Given the description of an element on the screen output the (x, y) to click on. 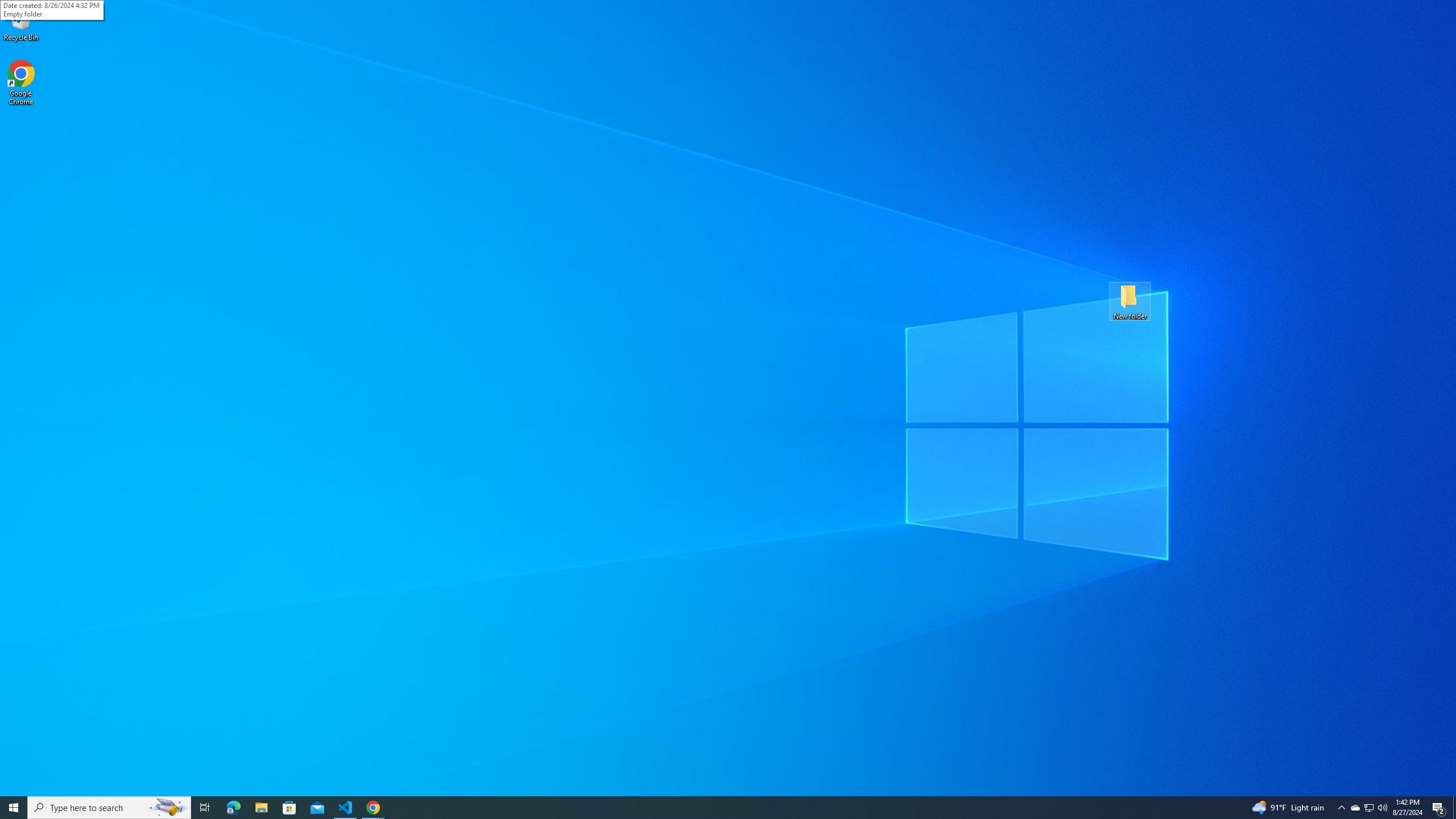
New folder (1130, 301)
Google Chrome (21, 82)
Recycle Bin (21, 22)
